Given the description of an element on the screen output the (x, y) to click on. 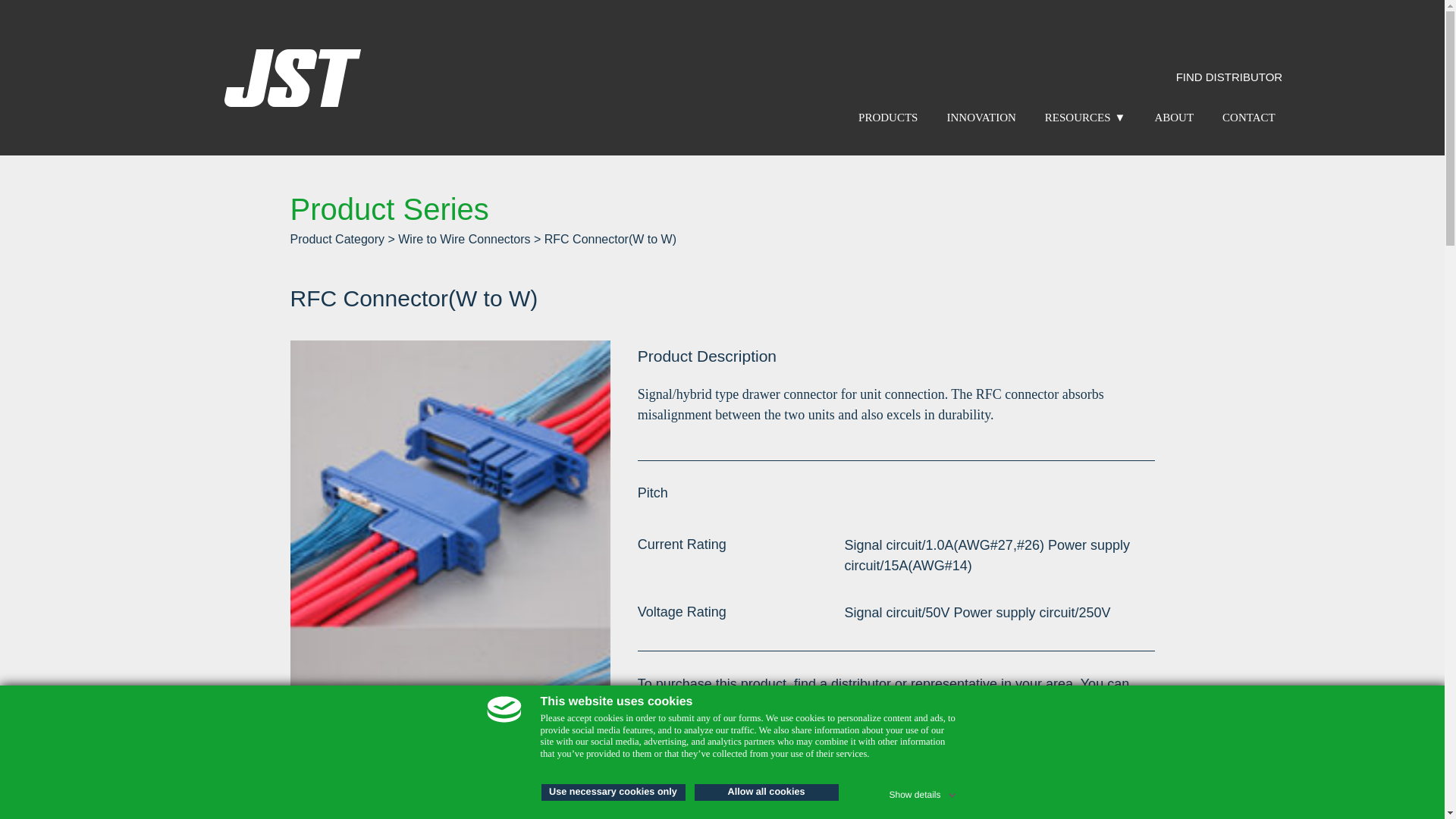
Allow all cookies (766, 791)
Show details (923, 791)
Use necessary cookies only (613, 791)
